Given the description of an element on the screen output the (x, y) to click on. 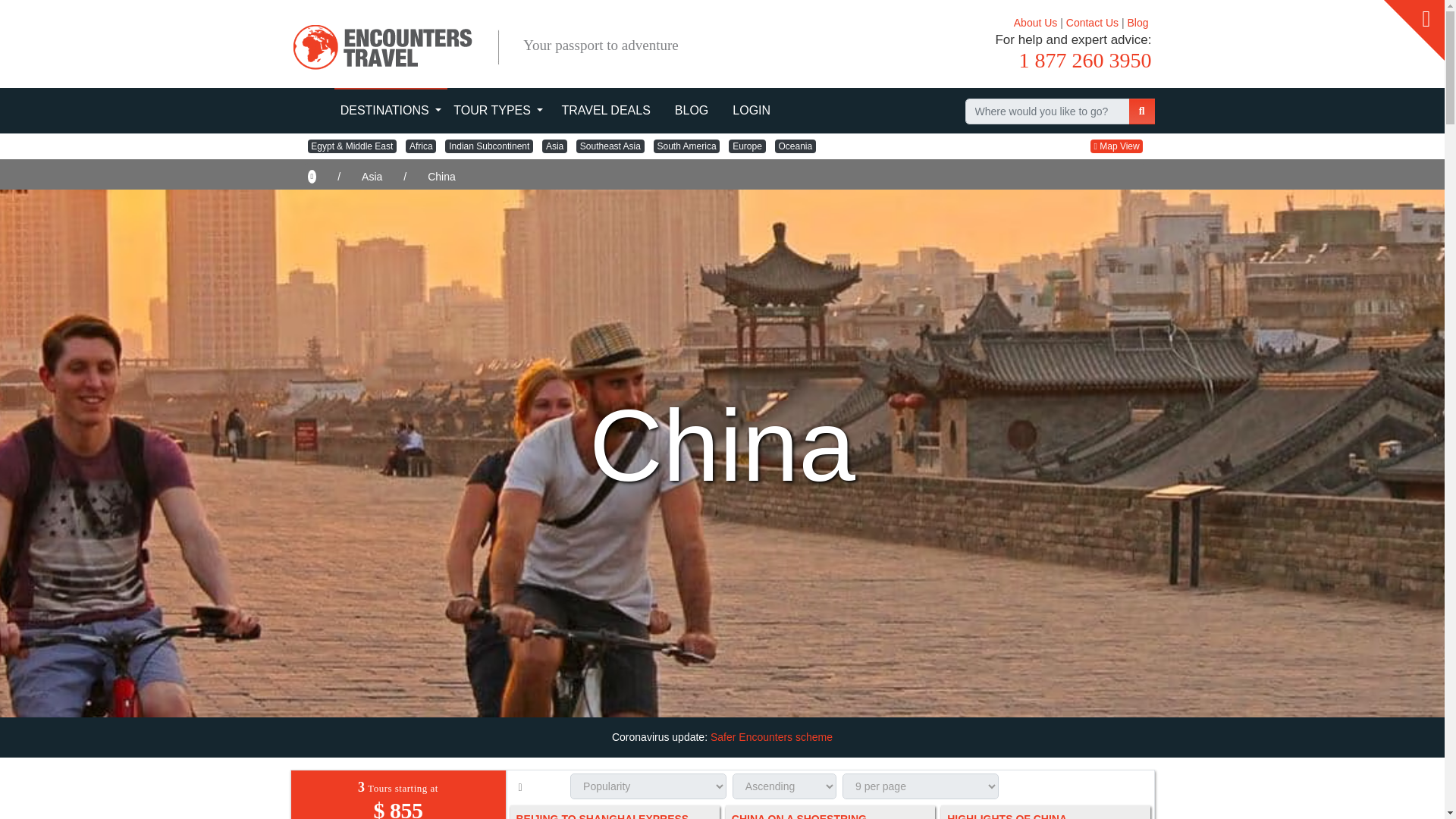
Blog (1137, 22)
Contact Us (1091, 22)
DESTINATIONS (391, 112)
About Us (1035, 22)
